Given the description of an element on the screen output the (x, y) to click on. 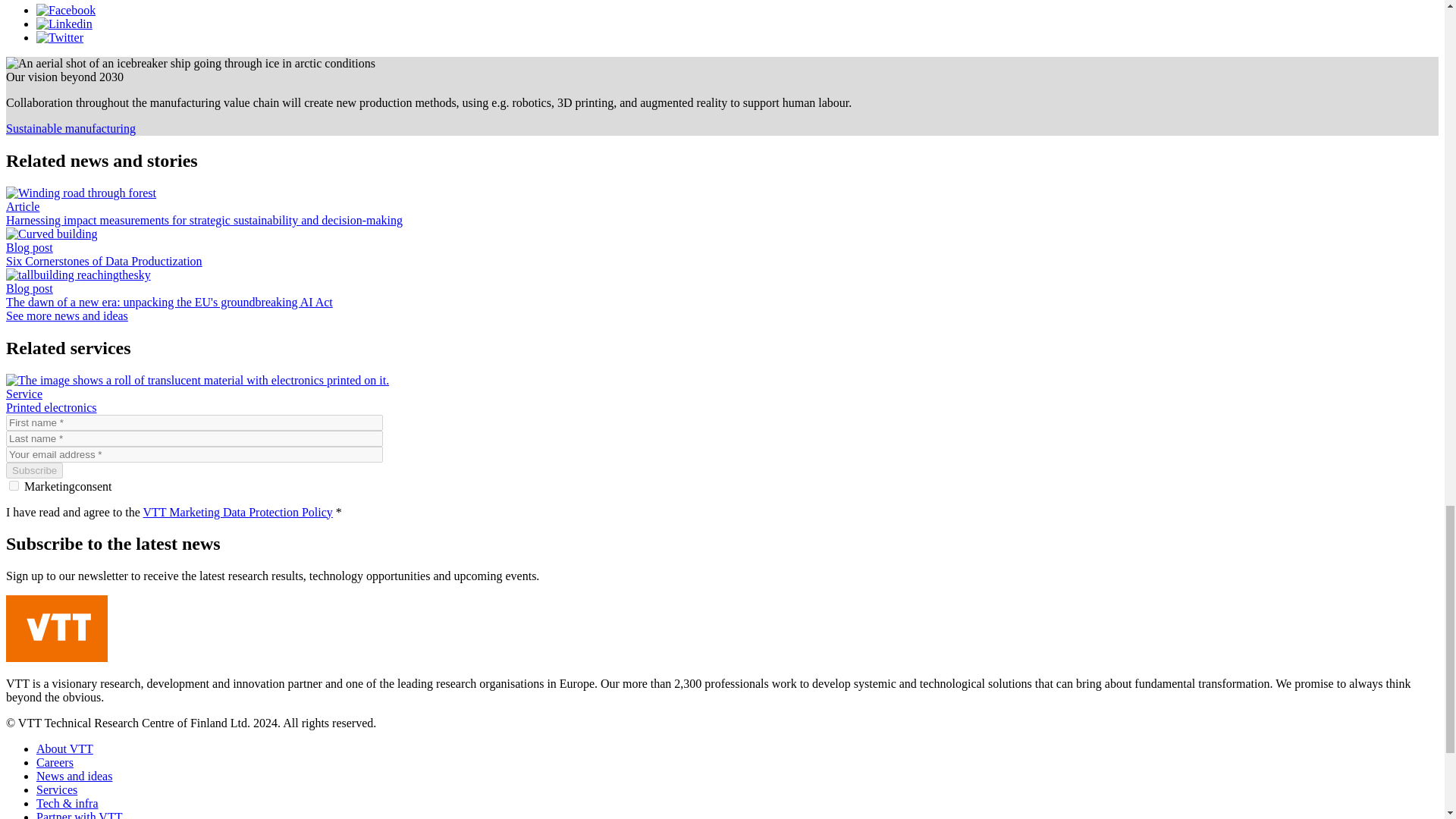
Subscribe (33, 470)
Linkedin (64, 23)
Twitter (59, 37)
Facebook (66, 10)
See more news and ideas (66, 315)
VTT Marketing Data Protection Policy (236, 511)
1 (13, 485)
Subscribe (33, 470)
vtt-icebreaker-ship-going-through-ice (190, 63)
